Given the description of an element on the screen output the (x, y) to click on. 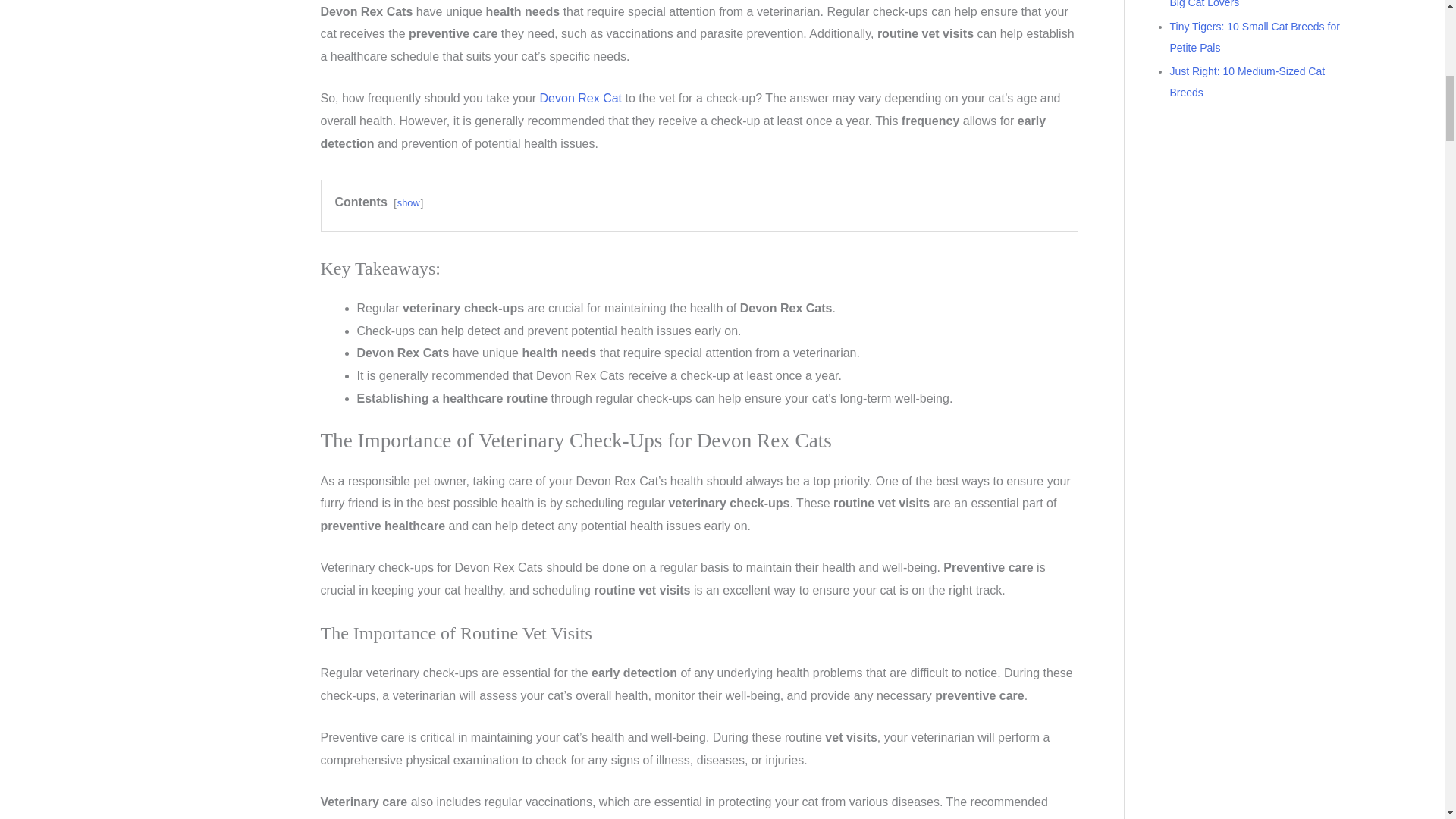
Devon Rex Cat (581, 97)
Devon Rex Cat (581, 97)
show (408, 202)
